Given the description of an element on the screen output the (x, y) to click on. 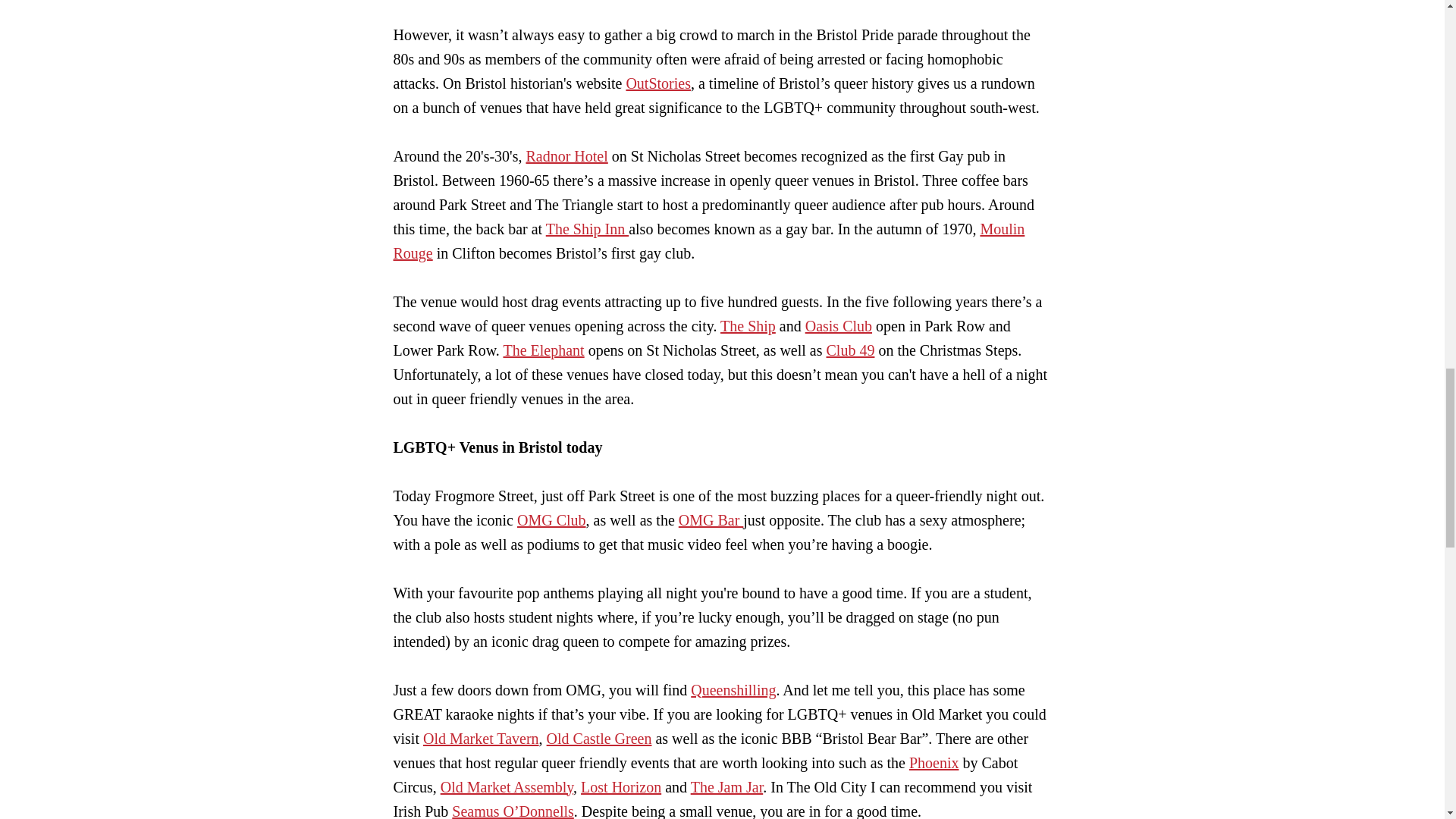
Moulin Rouge (709, 240)
Radnor Hotel (566, 156)
The Ship (748, 325)
OutStories (658, 83)
The Ship Inn (587, 228)
